Given the description of an element on the screen output the (x, y) to click on. 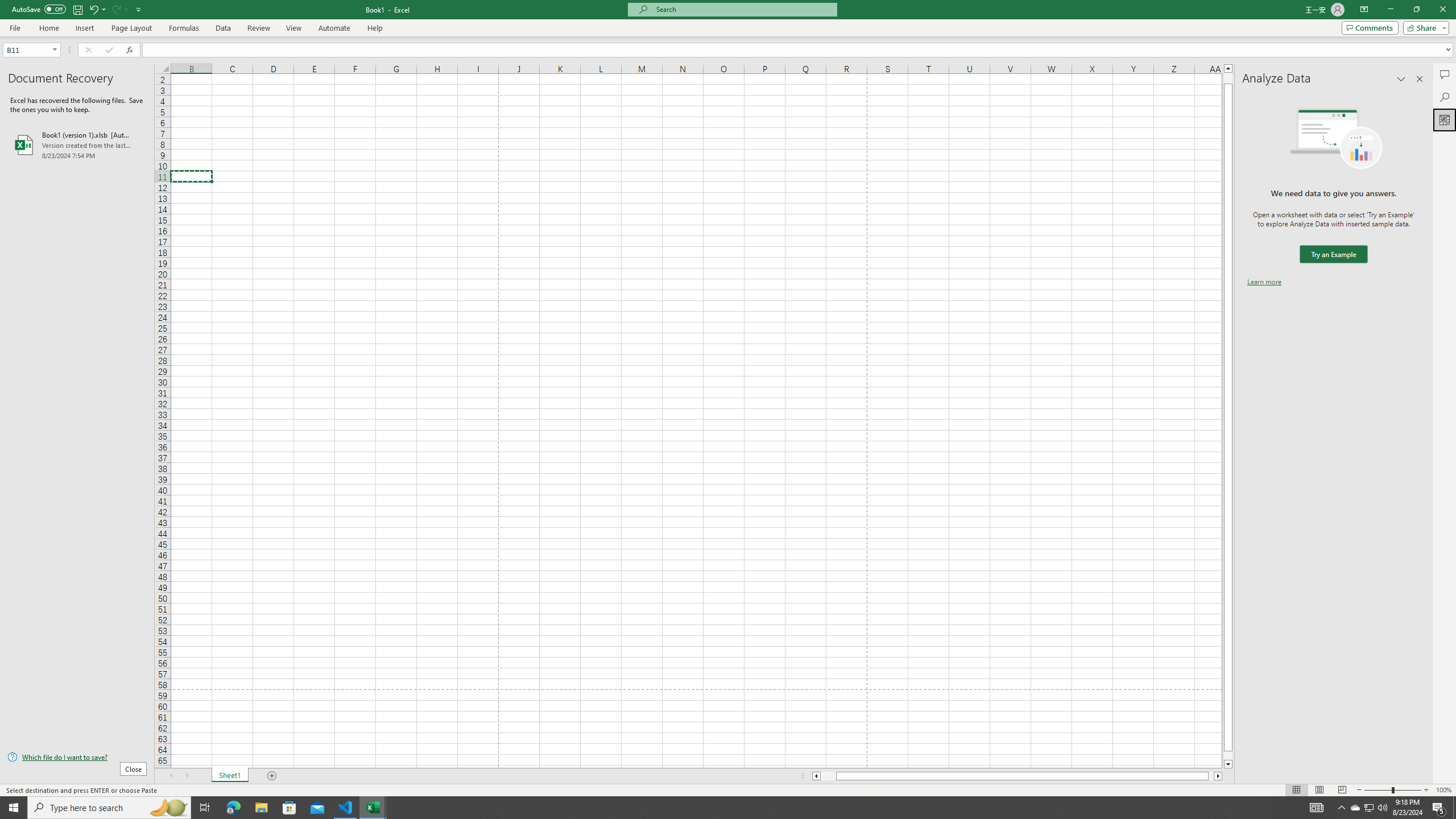
Restore Down (1416, 9)
Page down (1228, 755)
